Given the description of an element on the screen output the (x, y) to click on. 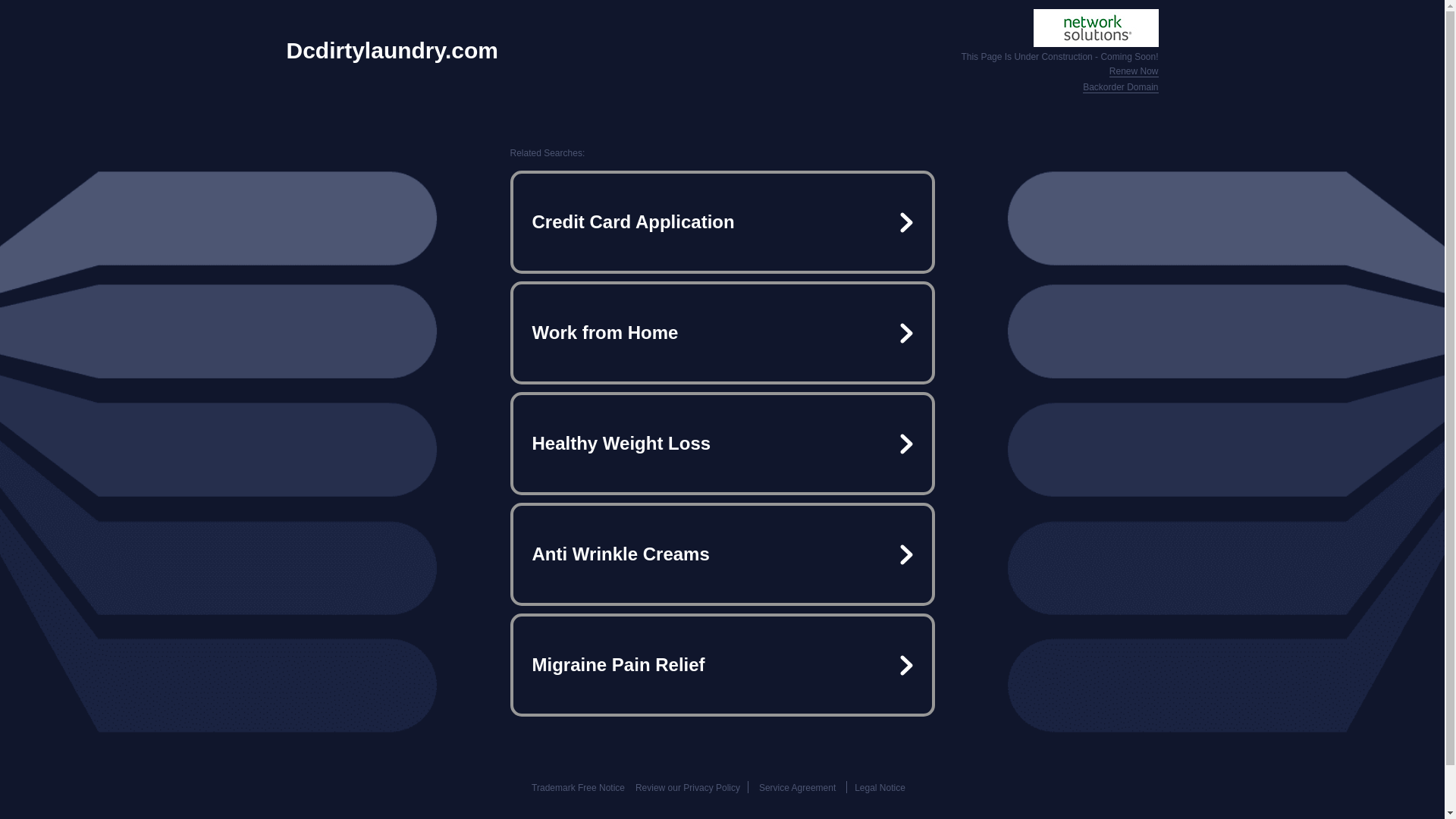
Anti Wrinkle Creams (721, 554)
Credit Card Application (721, 222)
Renew Now (1133, 71)
Backorder Domain (1120, 87)
Credit Card Application (721, 222)
Healthy Weight Loss (721, 443)
Service Agreement (796, 787)
Work from Home (721, 332)
Legal Notice (879, 787)
Migraine Pain Relief (721, 664)
Migraine Pain Relief (721, 664)
Healthy Weight Loss (721, 443)
Anti Wrinkle Creams (721, 554)
Review our Privacy Policy (686, 787)
Work from Home (721, 332)
